Given the description of an element on the screen output the (x, y) to click on. 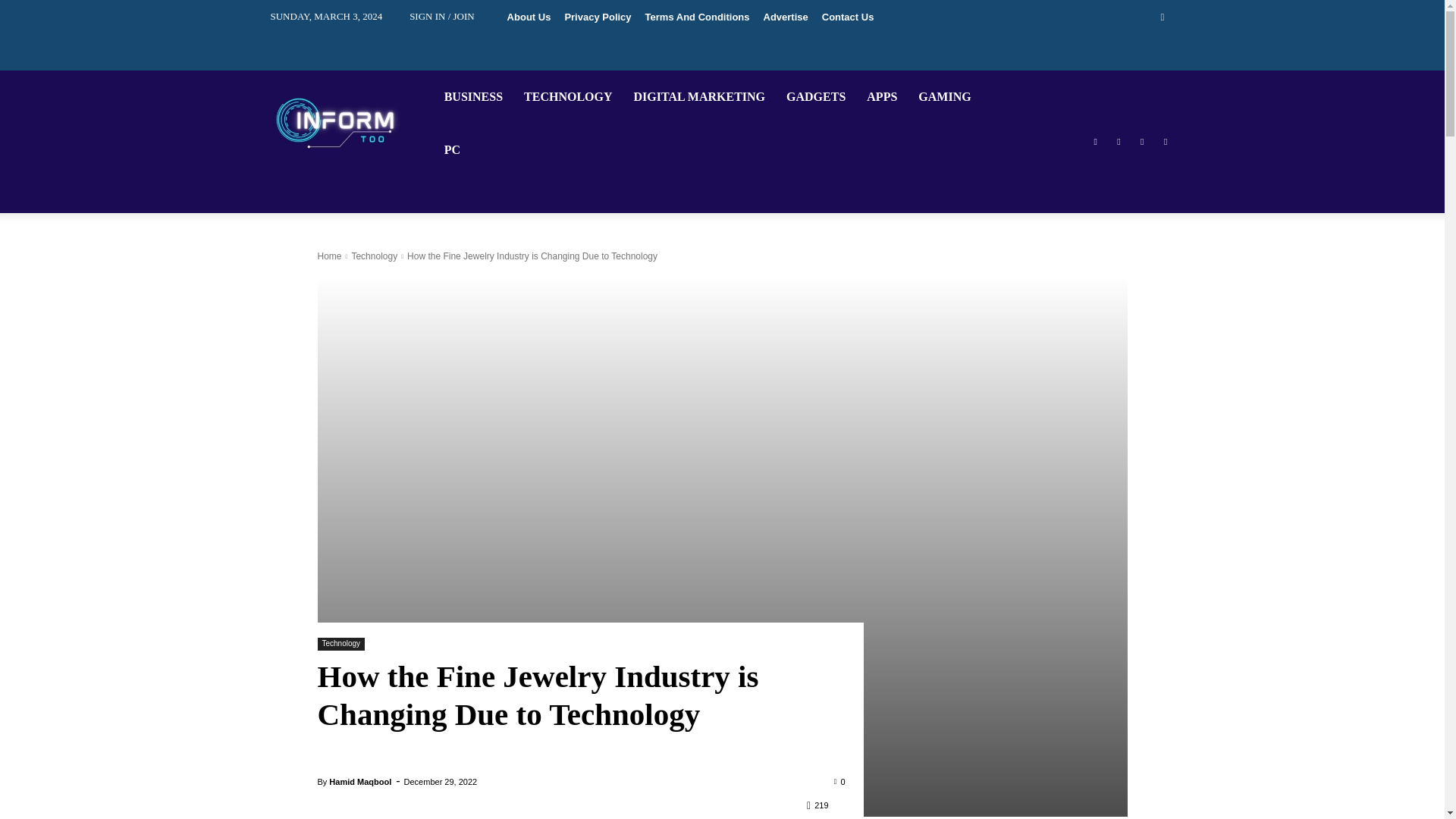
Advertise (786, 16)
DIGITAL MARKETING (699, 96)
TECHNOLOGY (567, 96)
GAMING (944, 96)
BUSINESS (473, 96)
Instagram (1117, 141)
Contact Us (847, 16)
View all posts in Technology (373, 255)
Privacy Policy (597, 16)
Terms And Conditions (698, 16)
About Us (528, 16)
Twitter (1142, 141)
Youtube (1165, 141)
Facebook (1094, 141)
GADGETS (815, 96)
